Given the description of an element on the screen output the (x, y) to click on. 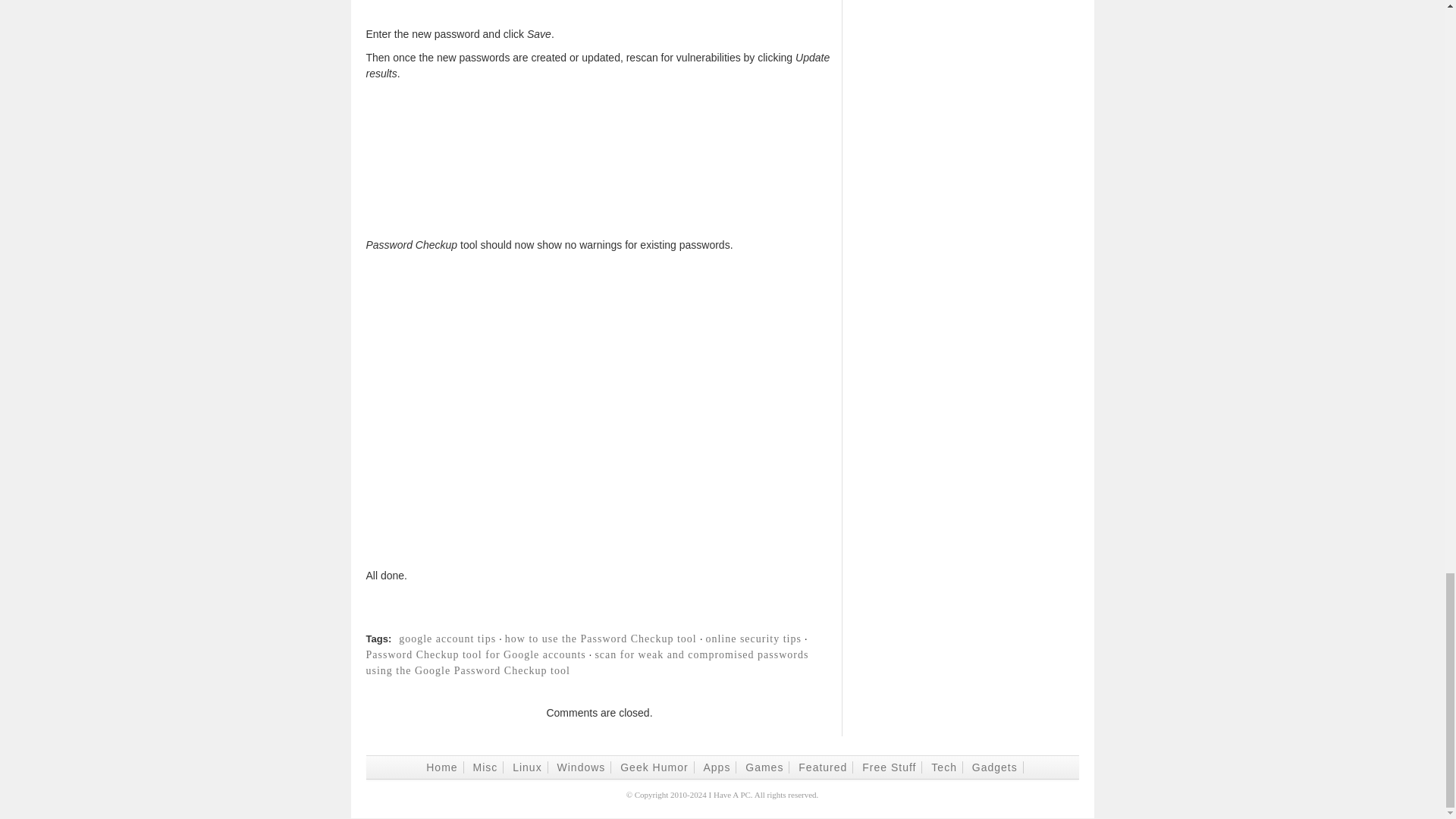
online security tips (753, 638)
google account tips (447, 638)
Tweet (954, 622)
Pin Share (1189, 622)
Facebook Share (721, 622)
how to use the Password Checkup tool (601, 638)
Password Checkup tool for Google accounts (475, 654)
